Given the description of an element on the screen output the (x, y) to click on. 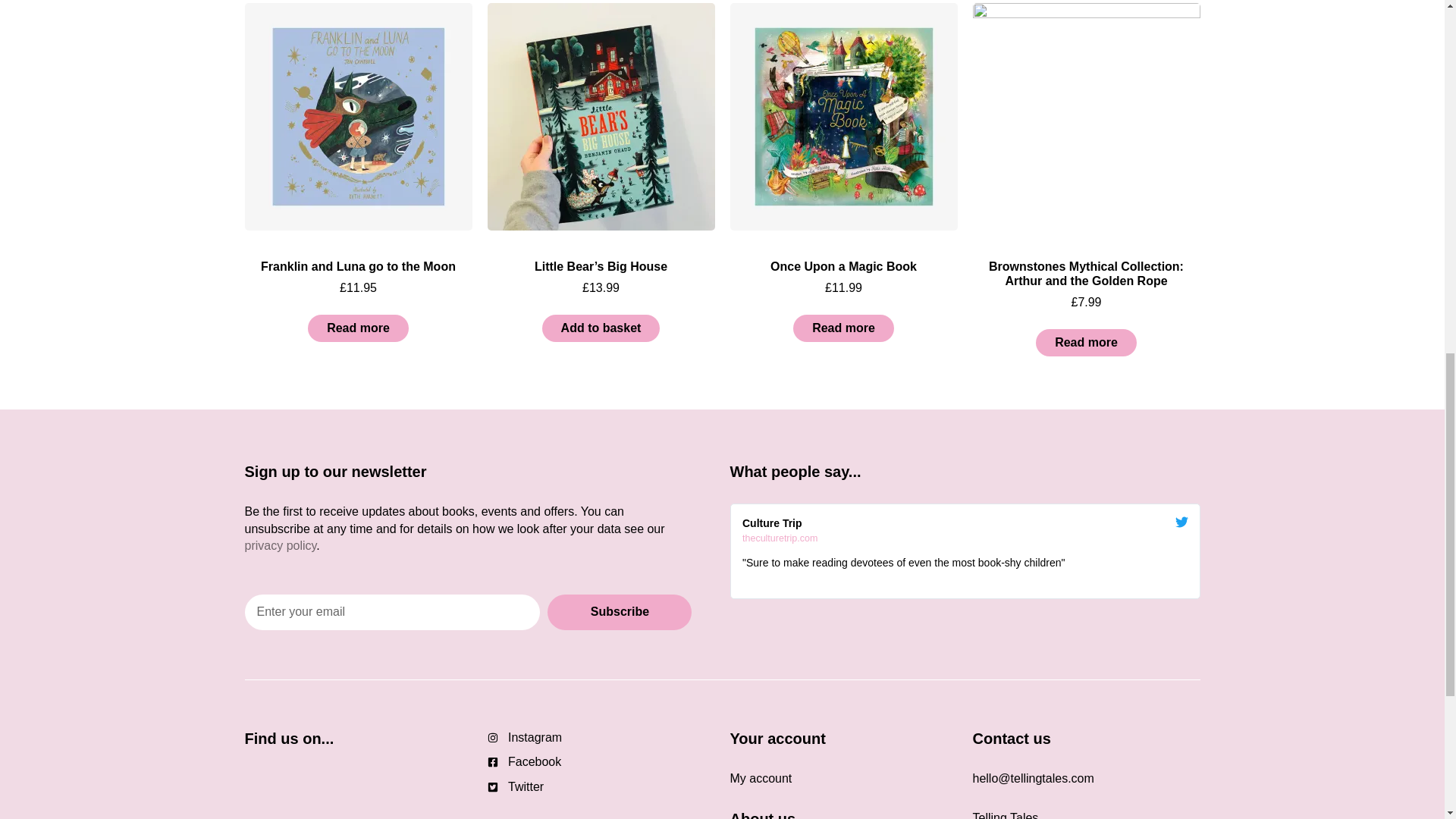
privacy policy (279, 545)
Subscribe (619, 611)
Read more (1086, 342)
Read more (843, 328)
Facebook (600, 761)
Read more (358, 328)
Add to basket (601, 328)
Instagram (600, 737)
Twitter (964, 527)
My account (600, 786)
